Given the description of an element on the screen output the (x, y) to click on. 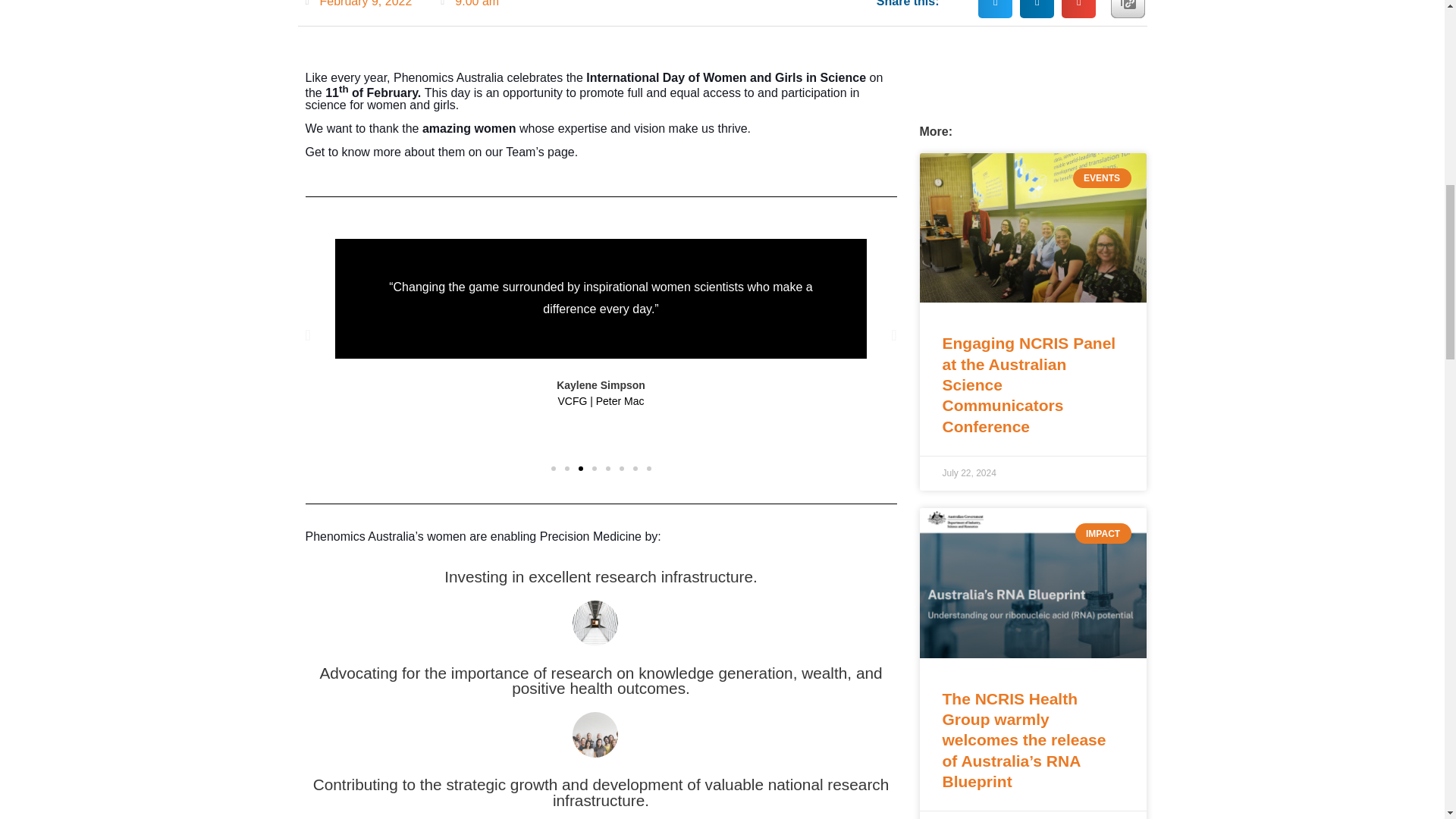
every year (358, 77)
February 9, 2022 (358, 3)
